Given the description of an element on the screen output the (x, y) to click on. 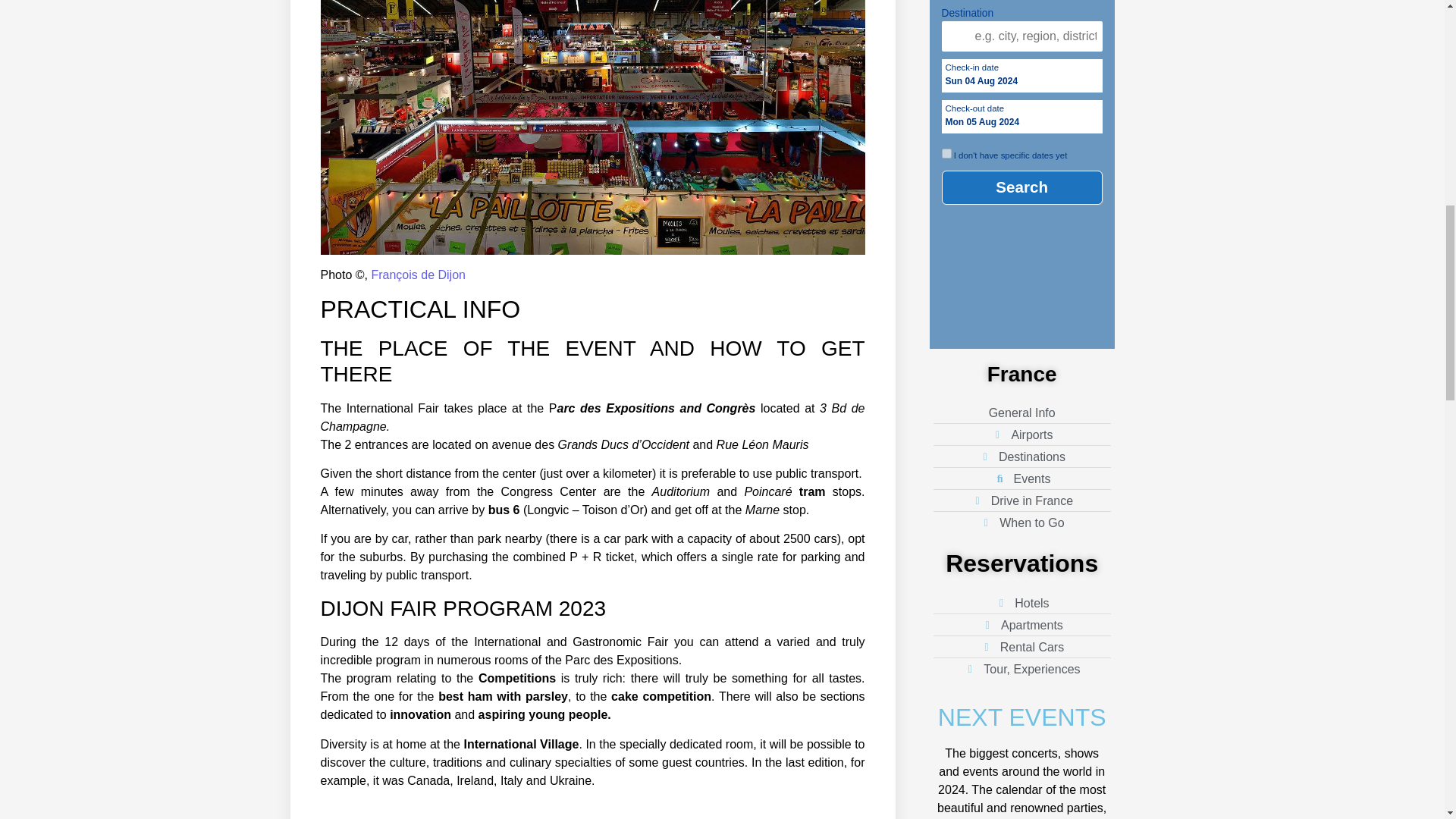
Search (1022, 187)
e.g. city, region, district or specific hotel (1022, 36)
on (947, 153)
